Given the description of an element on the screen output the (x, y) to click on. 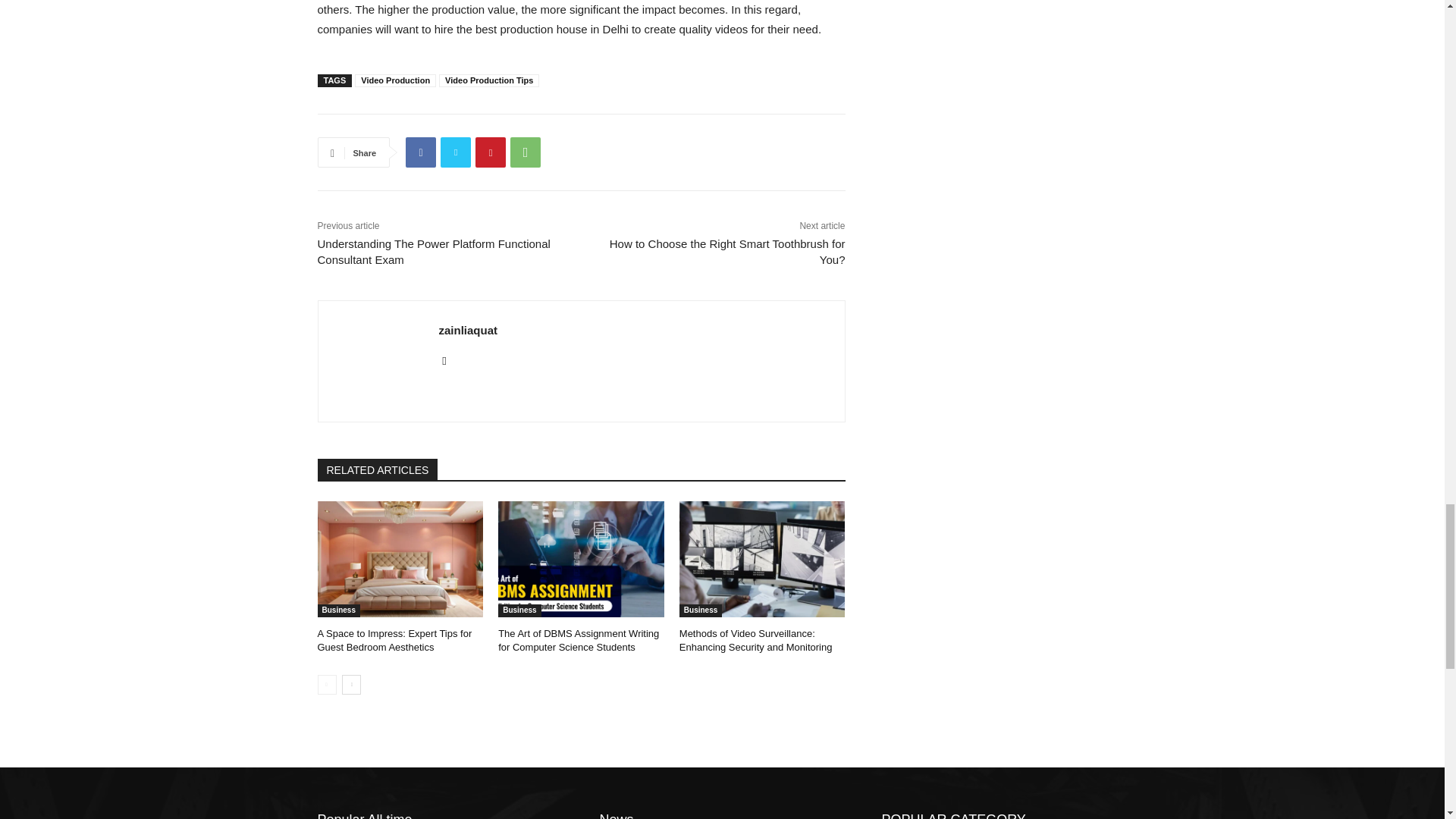
Facebook (420, 152)
